Given the description of an element on the screen output the (x, y) to click on. 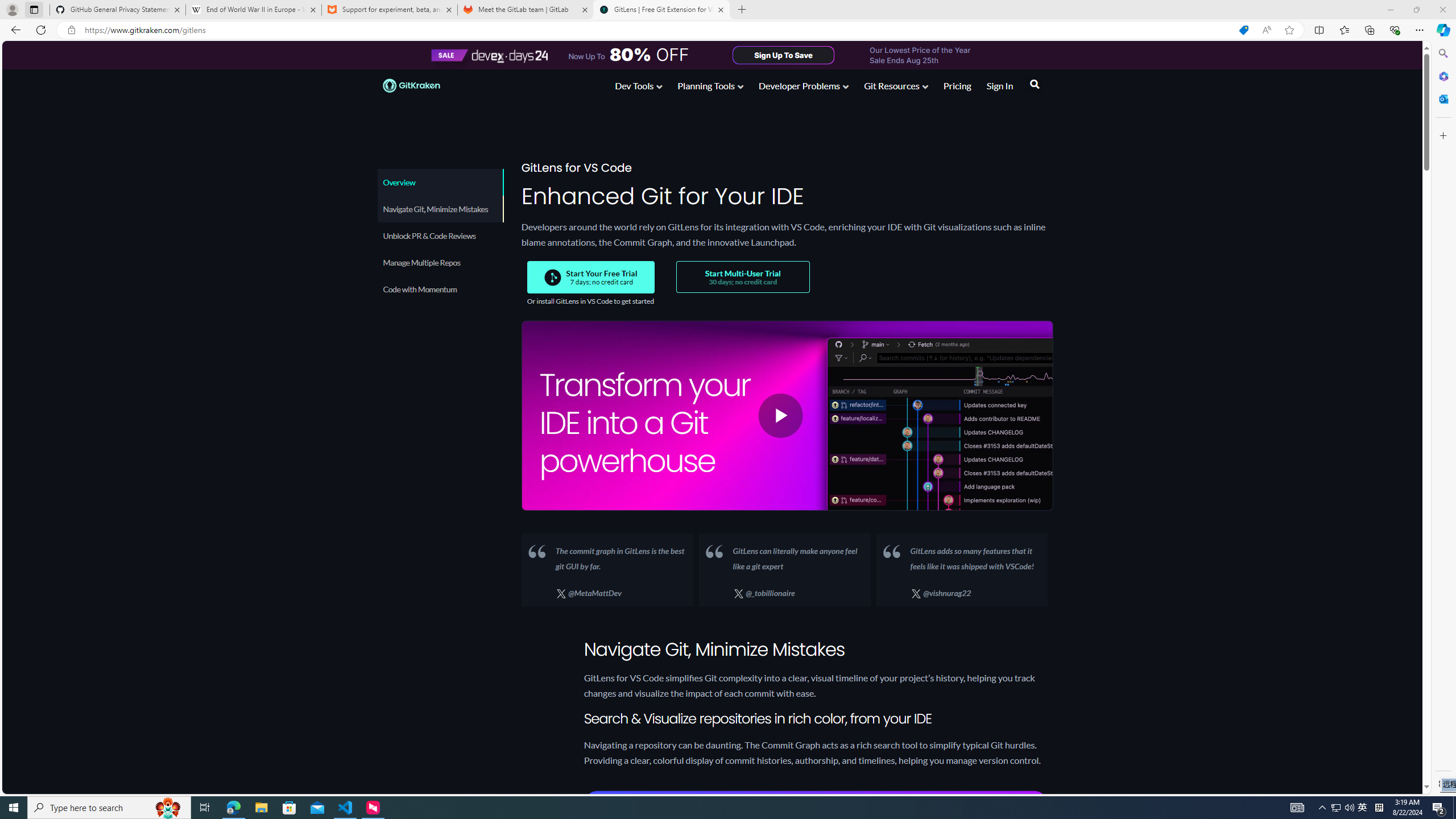
Microsoft Edge - 1 running window (233, 807)
Overview (440, 181)
End of World War II in Europe - Wikipedia (253, 9)
Manage Multiple Repos (439, 262)
Search highlights icon opens search home window (167, 807)
Sign In (999, 87)
Unblock PR & Code Reviews (440, 235)
